Given the description of an element on the screen output the (x, y) to click on. 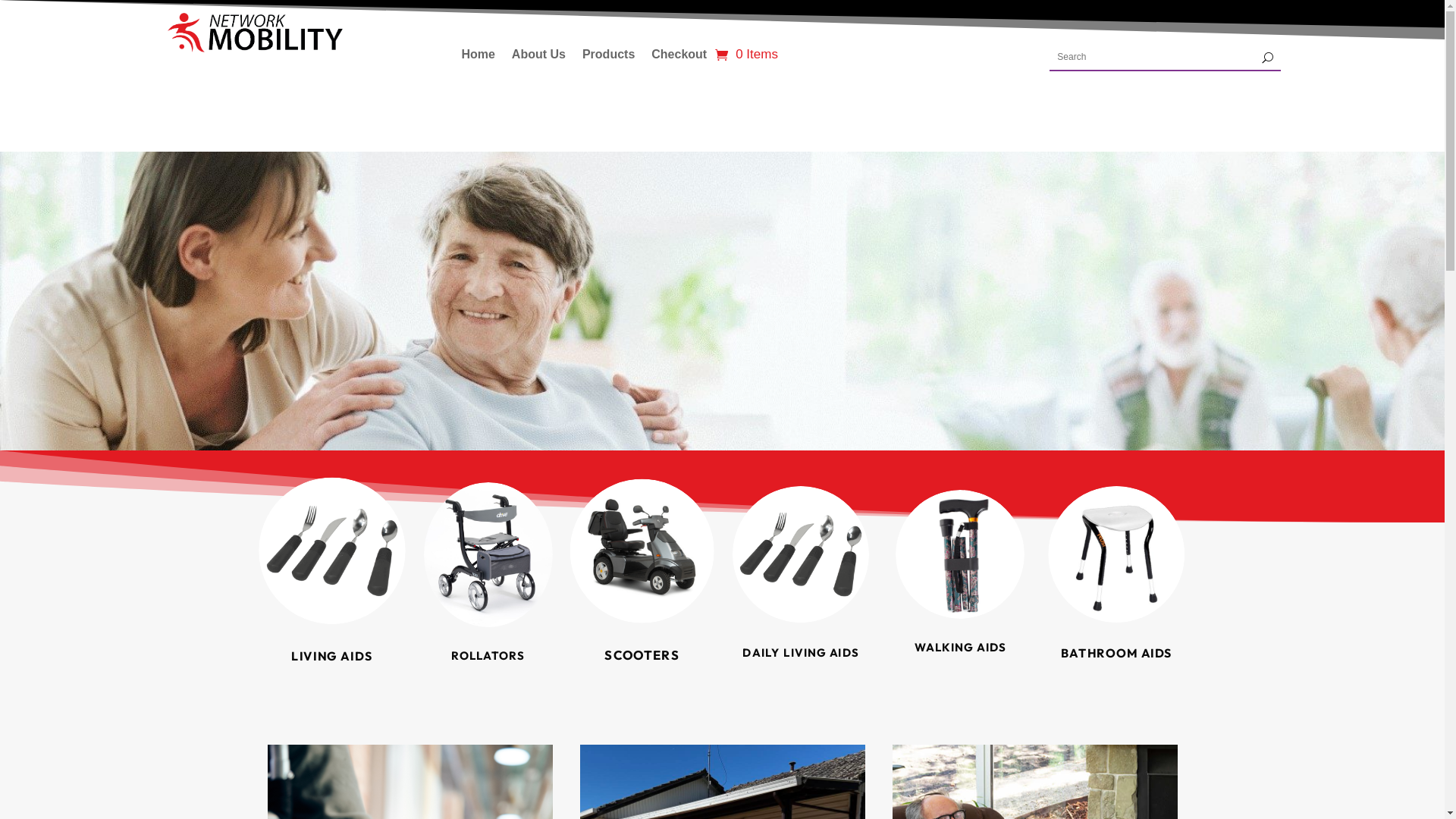
ROLLATORS Element type: text (487, 655)
redUntitled-1 Element type: hover (254, 32)
0 Items Element type: text (746, 54)
SCOOTERS Element type: text (637, 653)
Checkout Element type: text (678, 57)
BATHROOM AIDS Element type: text (1113, 651)
DAILY LIVING AIDS Element type: text (797, 651)
LIVING AIDS Element type: text (326, 655)
Products Element type: text (608, 57)
Home Element type: text (477, 57)
WALKING AIDS Element type: text (960, 647)
happyed Element type: hover (722, 291)
About Us Element type: text (538, 57)
